Given the description of an element on the screen output the (x, y) to click on. 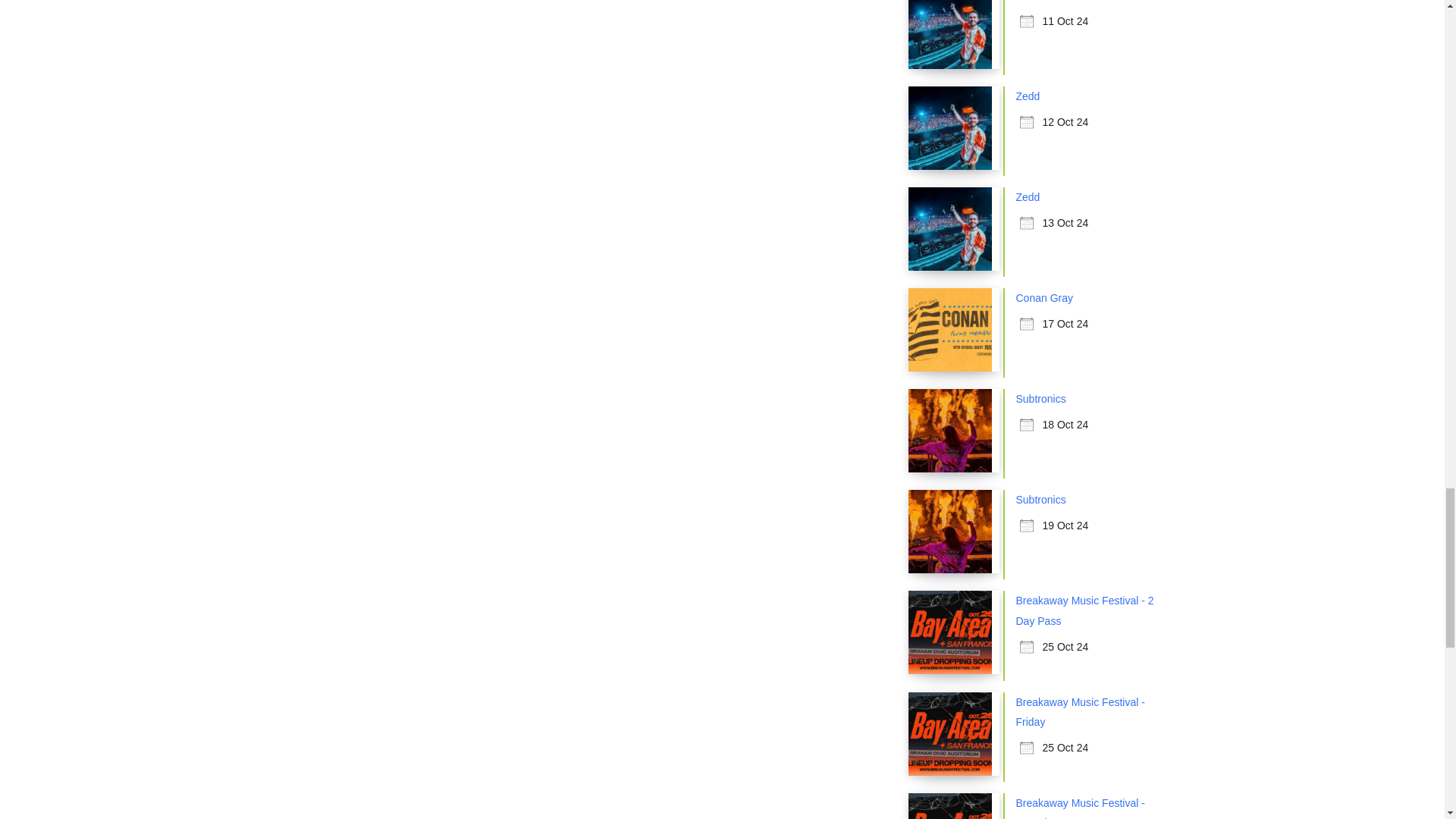
Subtronics (1040, 398)
Breakaway Music Festival - 2 Day Pass (1085, 610)
Conan Gray (1044, 297)
Breakaway Music Festival - Friday (1080, 712)
Zedd (1028, 0)
Zedd (1028, 96)
Zedd (1028, 196)
Subtronics (1040, 499)
